Given the description of an element on the screen output the (x, y) to click on. 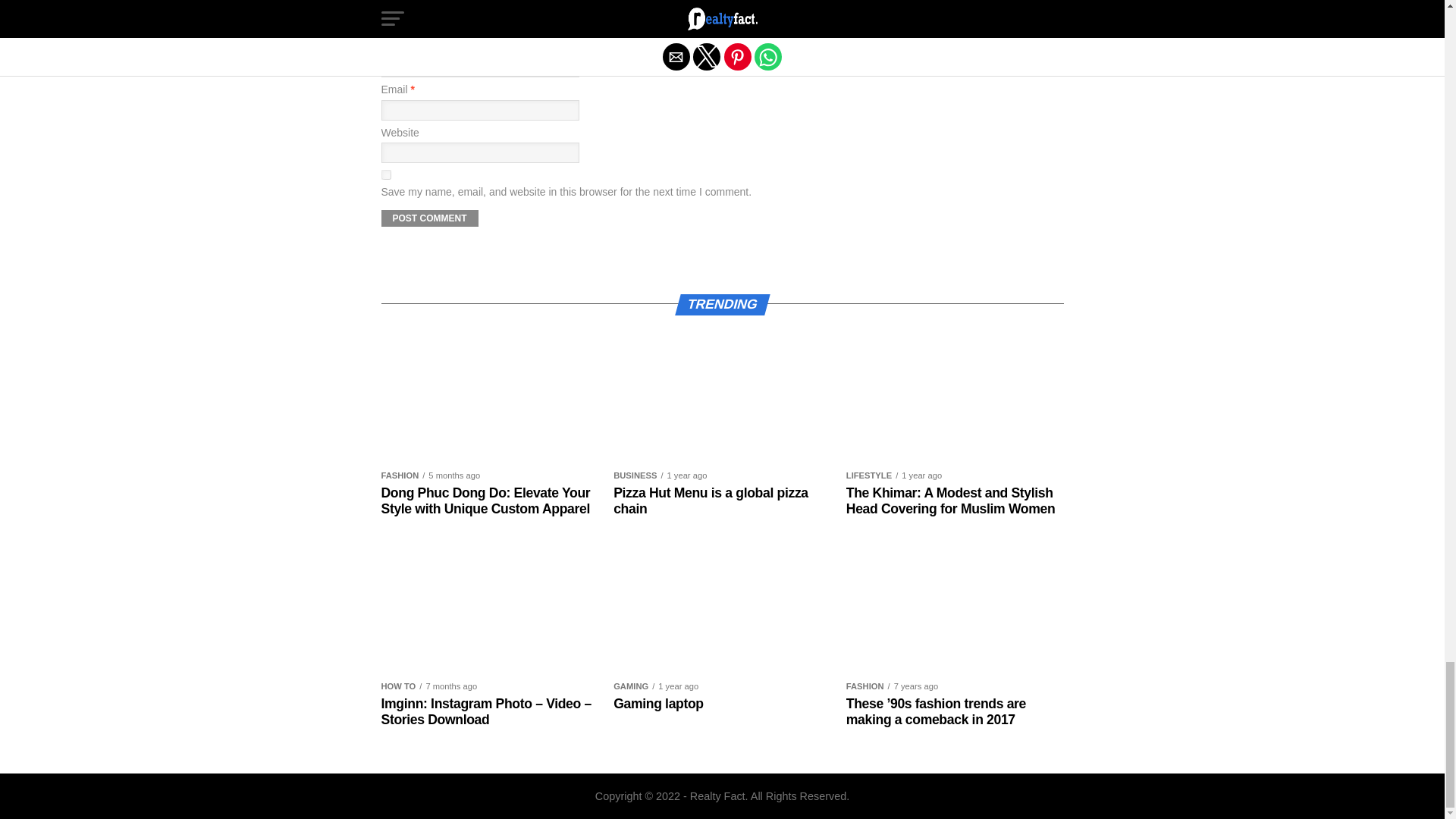
Post Comment (428, 217)
yes (385, 174)
Post Comment (428, 217)
